Given the description of an element on the screen output the (x, y) to click on. 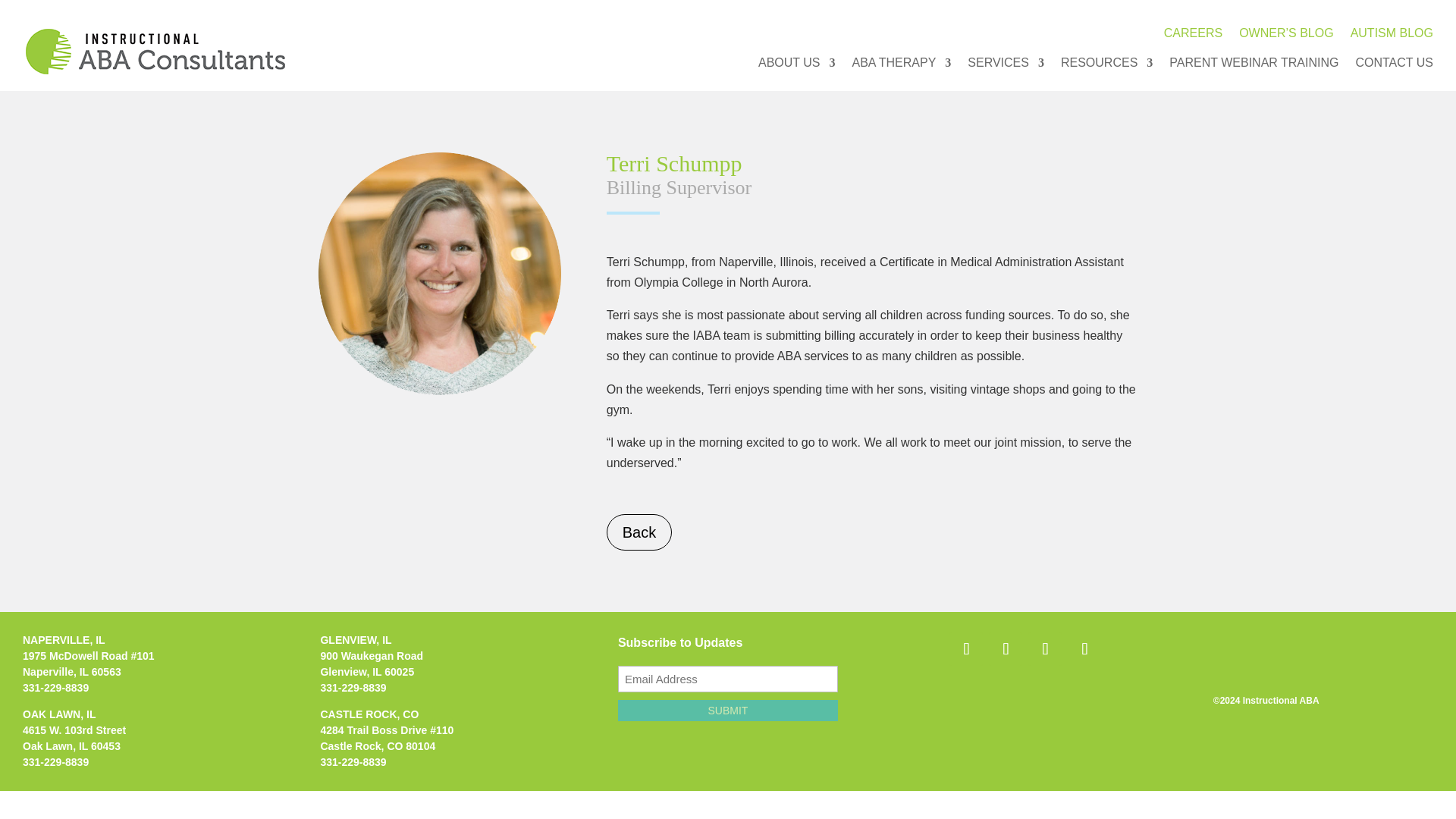
Follow on X (1044, 648)
AUTISM BLOG (1391, 36)
Submit (727, 710)
CAREERS (1193, 36)
Follow on Youtube (1083, 648)
Terri-McIlrath (439, 273)
iabalogo (155, 51)
Follow on Instagram (1005, 648)
Follow on Facebook (965, 648)
